Given the description of an element on the screen output the (x, y) to click on. 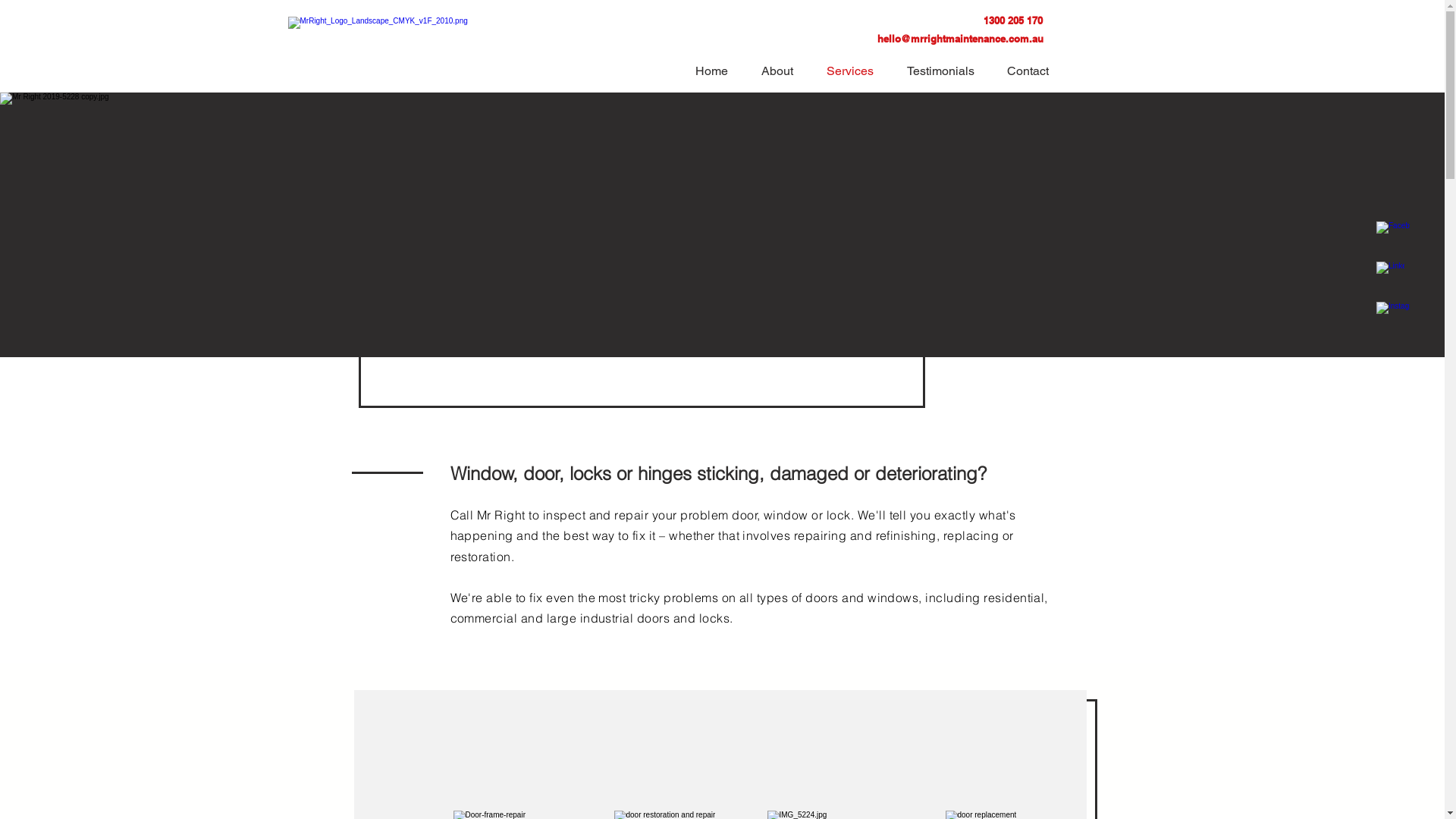
About Element type: text (781, 68)
Services Element type: text (854, 68)
1300 205 170 Element type: text (1013, 21)
Testimonials Element type: text (944, 68)
hello@mrrightmaintenance.com.au Element type: text (960, 40)
Contact Element type: text (1031, 68)
Home Element type: text (716, 68)
